Given the description of an element on the screen output the (x, y) to click on. 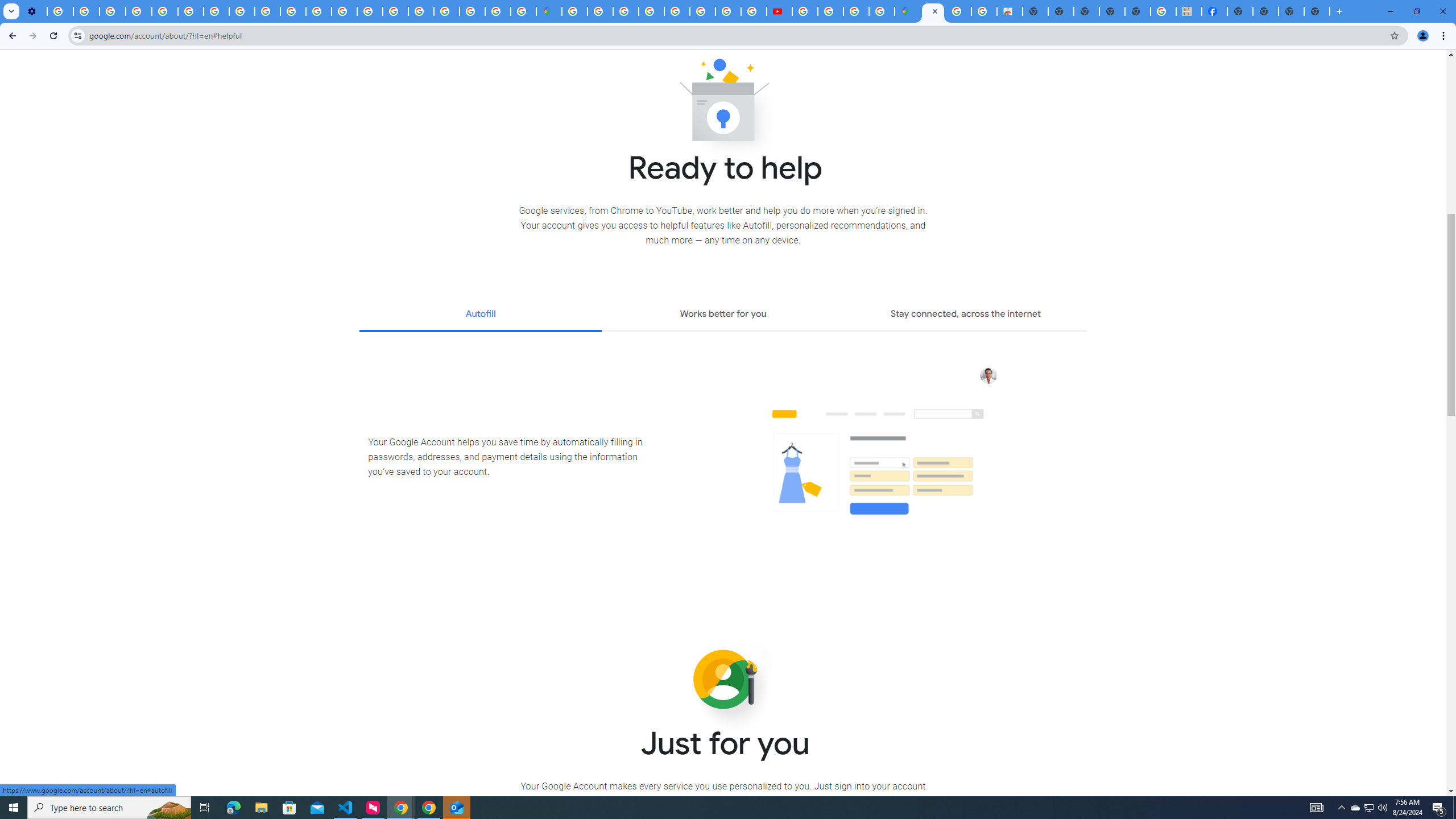
Privacy Help Center - Policies Help (344, 11)
Subscriptions - YouTube (779, 11)
Chrome Web Store - Shopping (1009, 11)
Settings - Customize profile (34, 11)
Terms and Conditions (676, 11)
